Given the description of an element on the screen output the (x, y) to click on. 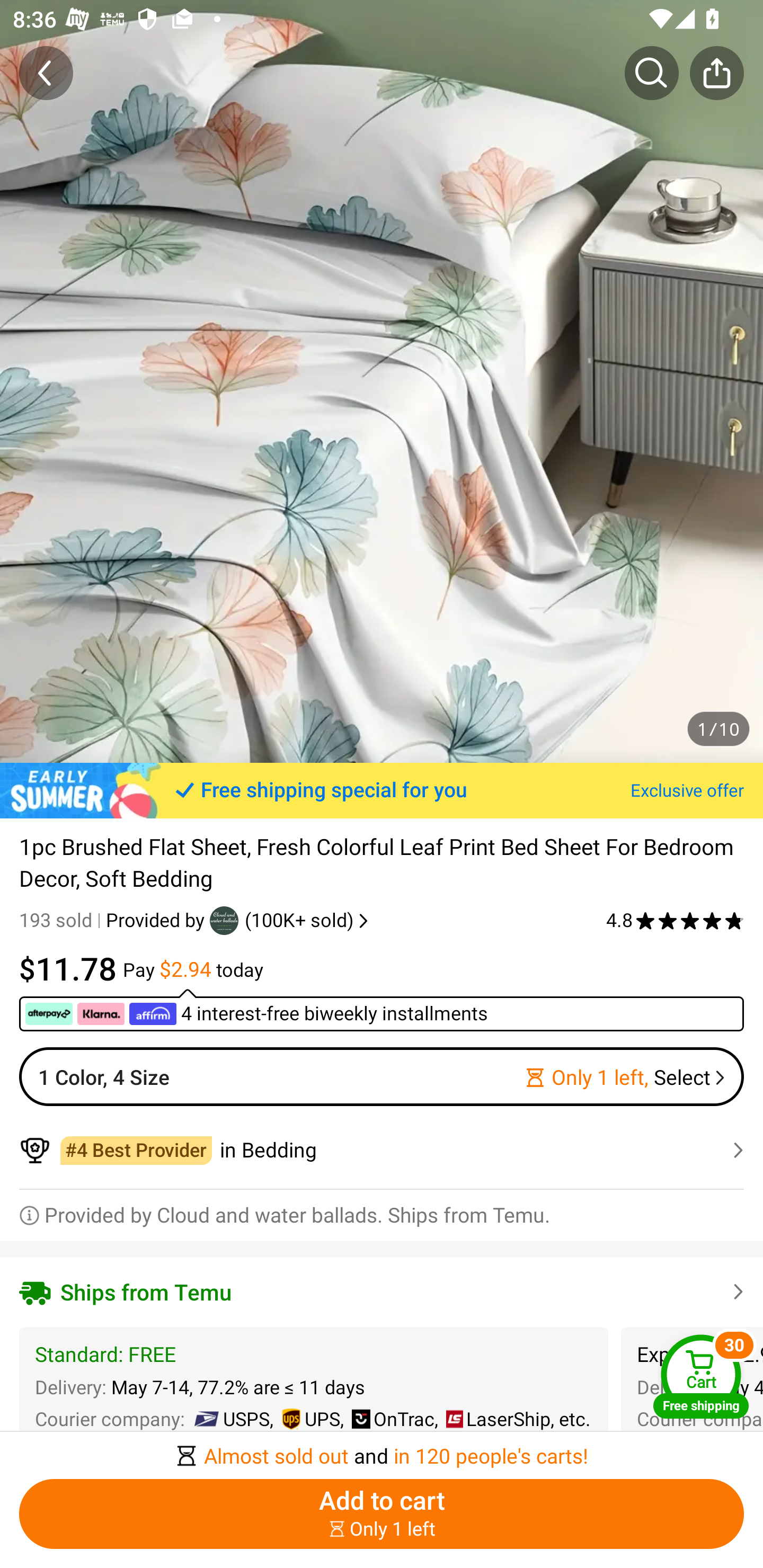
Back (46, 72)
Share (716, 72)
Free shipping special for you Exclusive offer (381, 790)
193 sold Provided by  (114, 920)
4.8 (674, 920)
￼ ￼ ￼ 4 interest-free biweekly installments (381, 1009)
1 Color, 4 Size   Only 1 left, Select (381, 1076)
￼￼in Bedding (381, 1149)
Ships from Temu (381, 1291)
Cart Free shipping Cart (701, 1375)
￼￼Almost sold out and in 120 people's carts! (381, 1450)
Add to cart ￼￼Only 1 left (381, 1513)
Delivery guarantee (483, 1548)
